Given the description of an element on the screen output the (x, y) to click on. 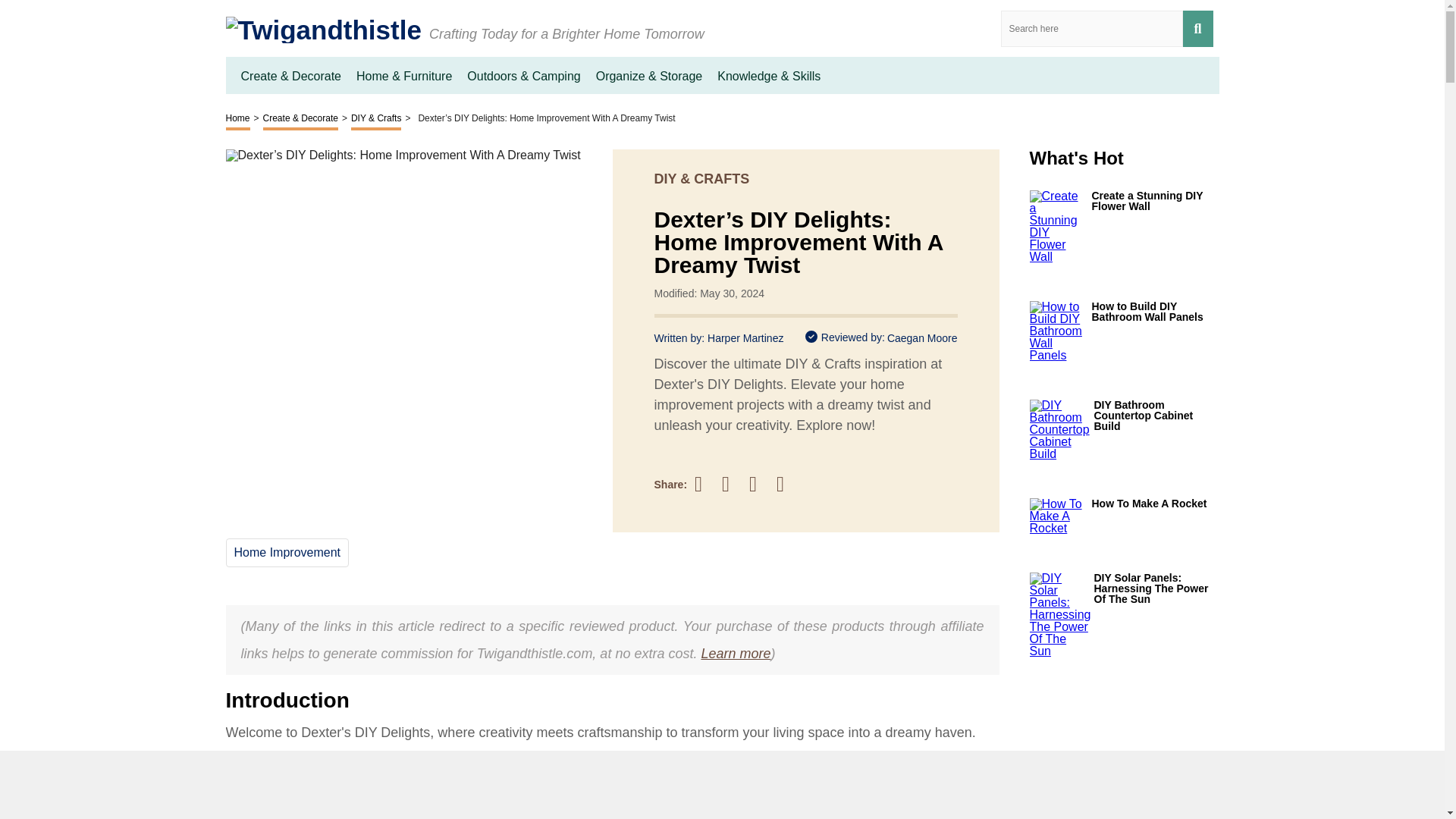
Share on Twitter (732, 484)
Share on Pinterest (759, 484)
Share on Facebook (705, 484)
Share on WhatsApp (786, 484)
